Given the description of an element on the screen output the (x, y) to click on. 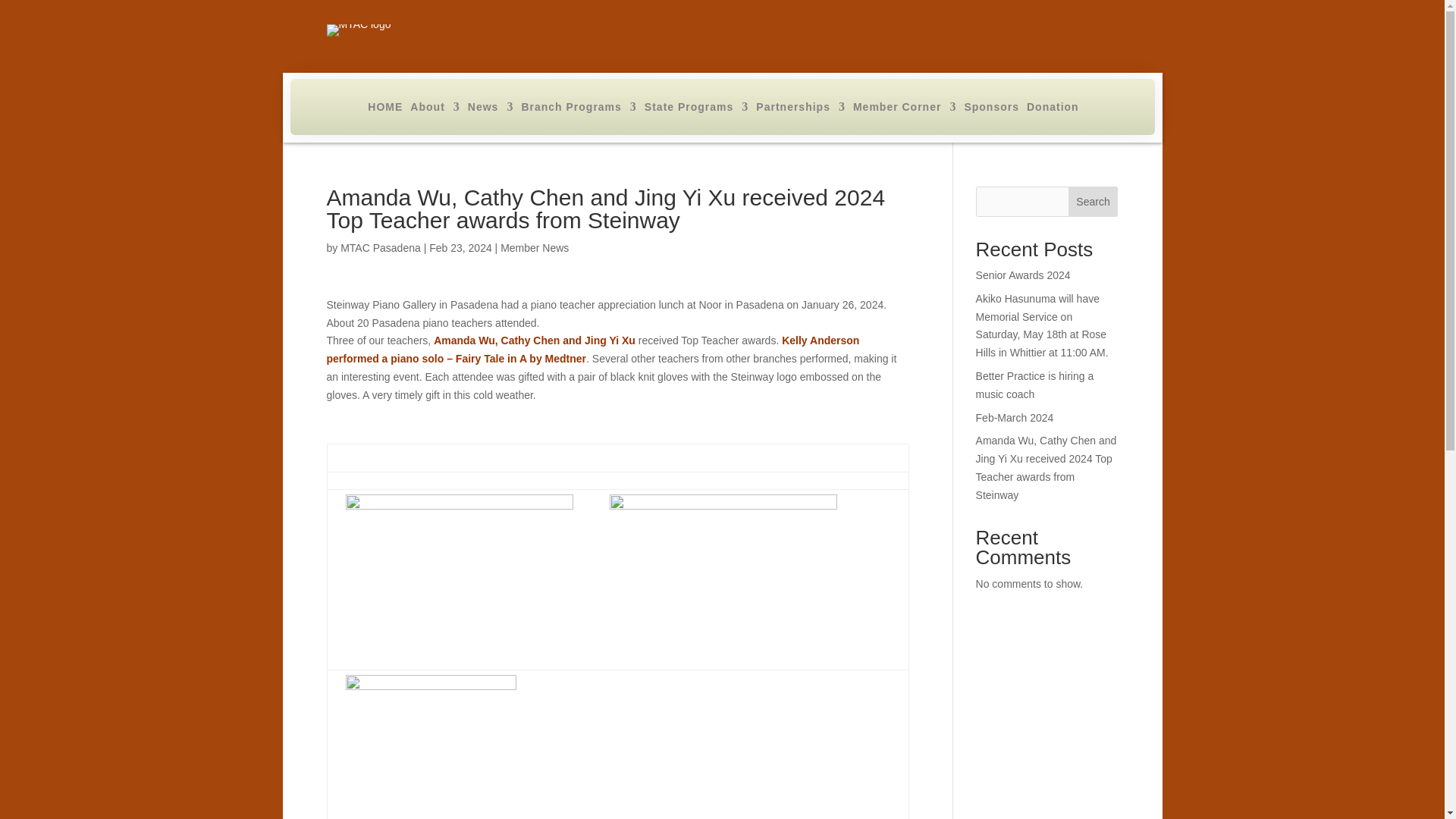
HOME (385, 109)
State Programs (696, 109)
Posts by MTAC Pasadena (380, 247)
About (435, 109)
MTAC logo (358, 30)
Partnerships (800, 109)
Branch Programs (578, 109)
Member Corner (904, 109)
News (490, 109)
